Given the description of an element on the screen output the (x, y) to click on. 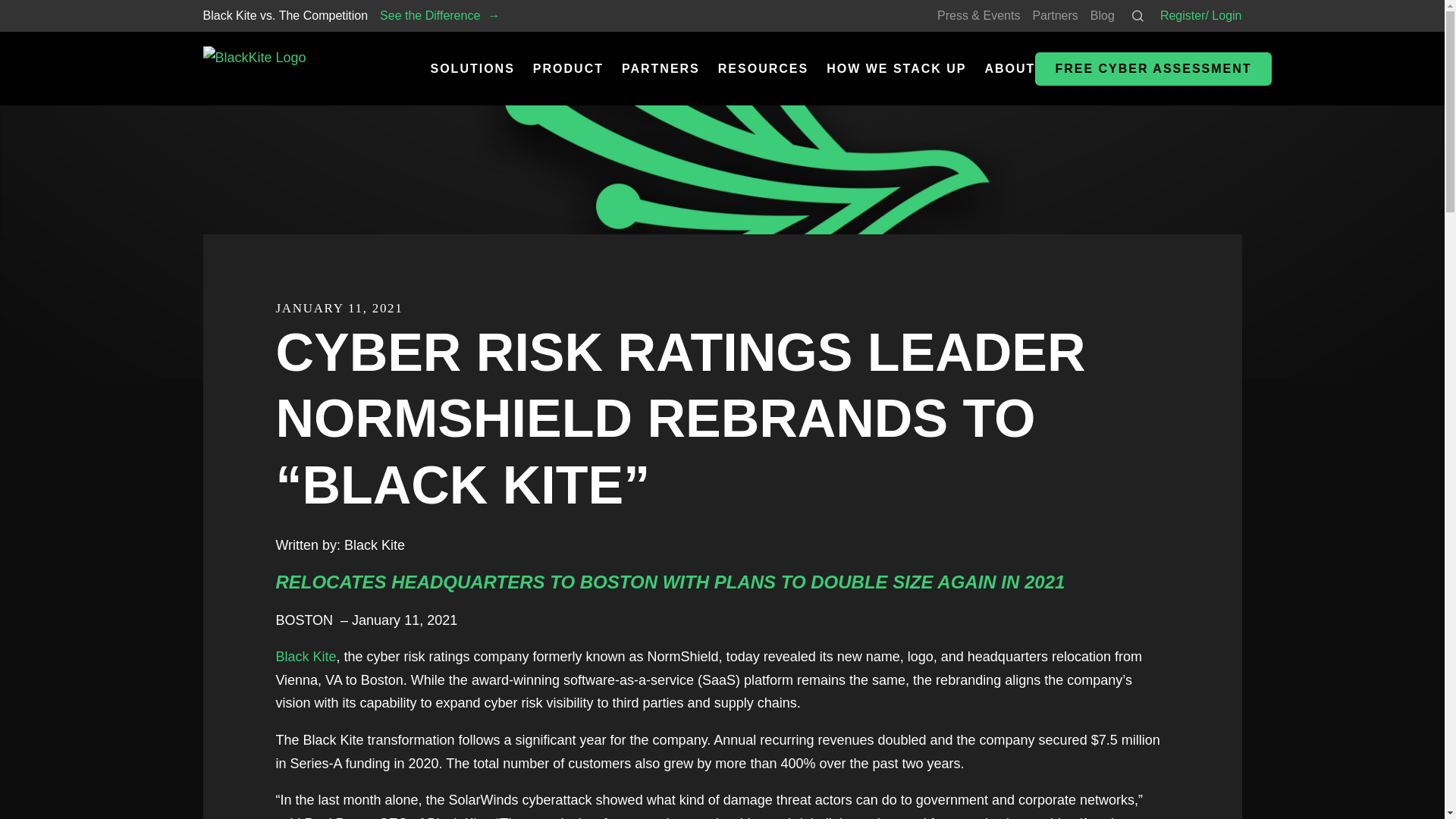
PARTNERS (660, 68)
Blog (1102, 15)
SOLUTIONS (472, 68)
Partners (1054, 15)
See the Difference (439, 14)
RESOURCES (762, 68)
PRODUCT (568, 68)
